Given the description of an element on the screen output the (x, y) to click on. 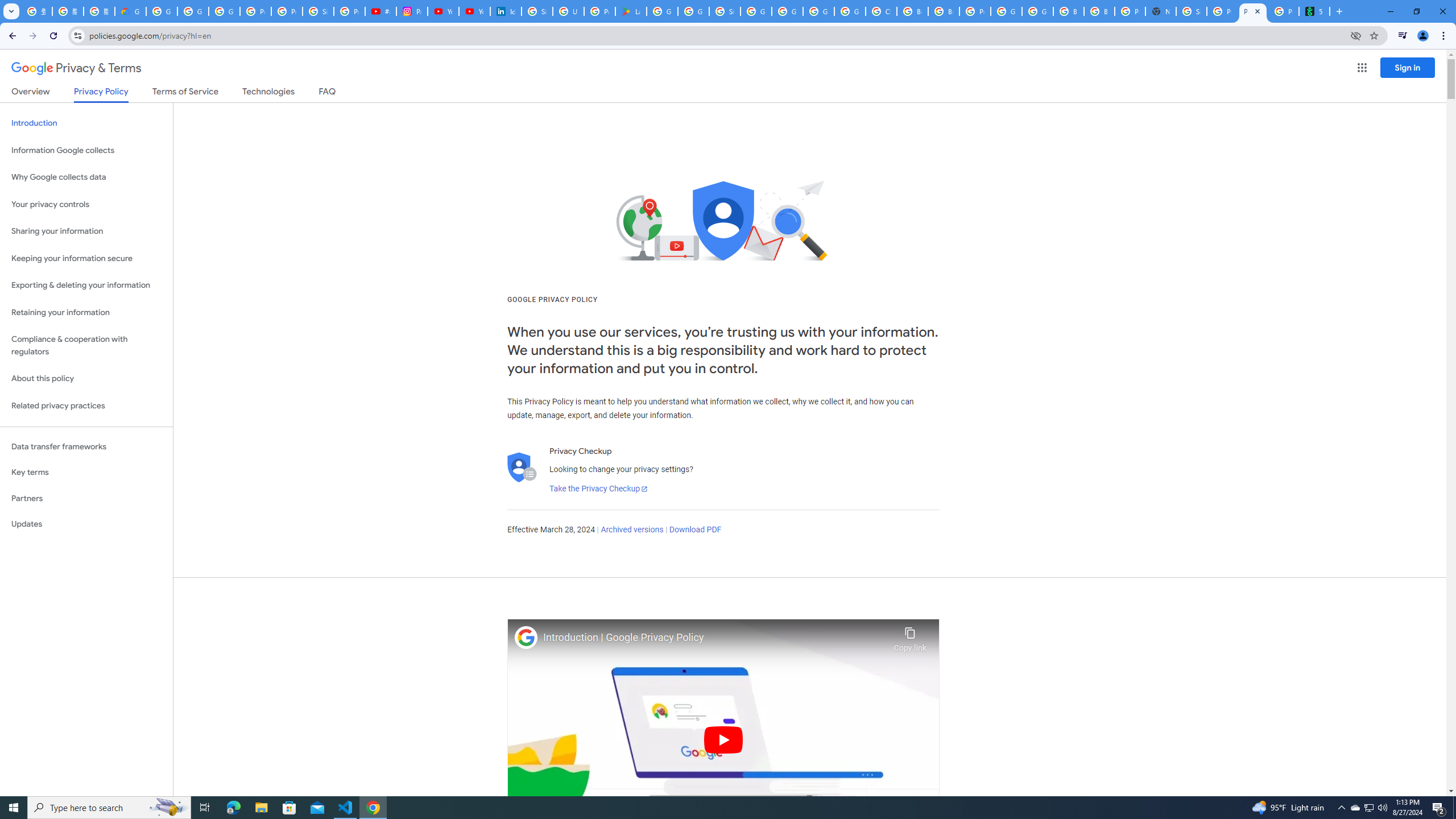
Privacy Help Center - Policies Help (286, 11)
